Given the description of an element on the screen output the (x, y) to click on. 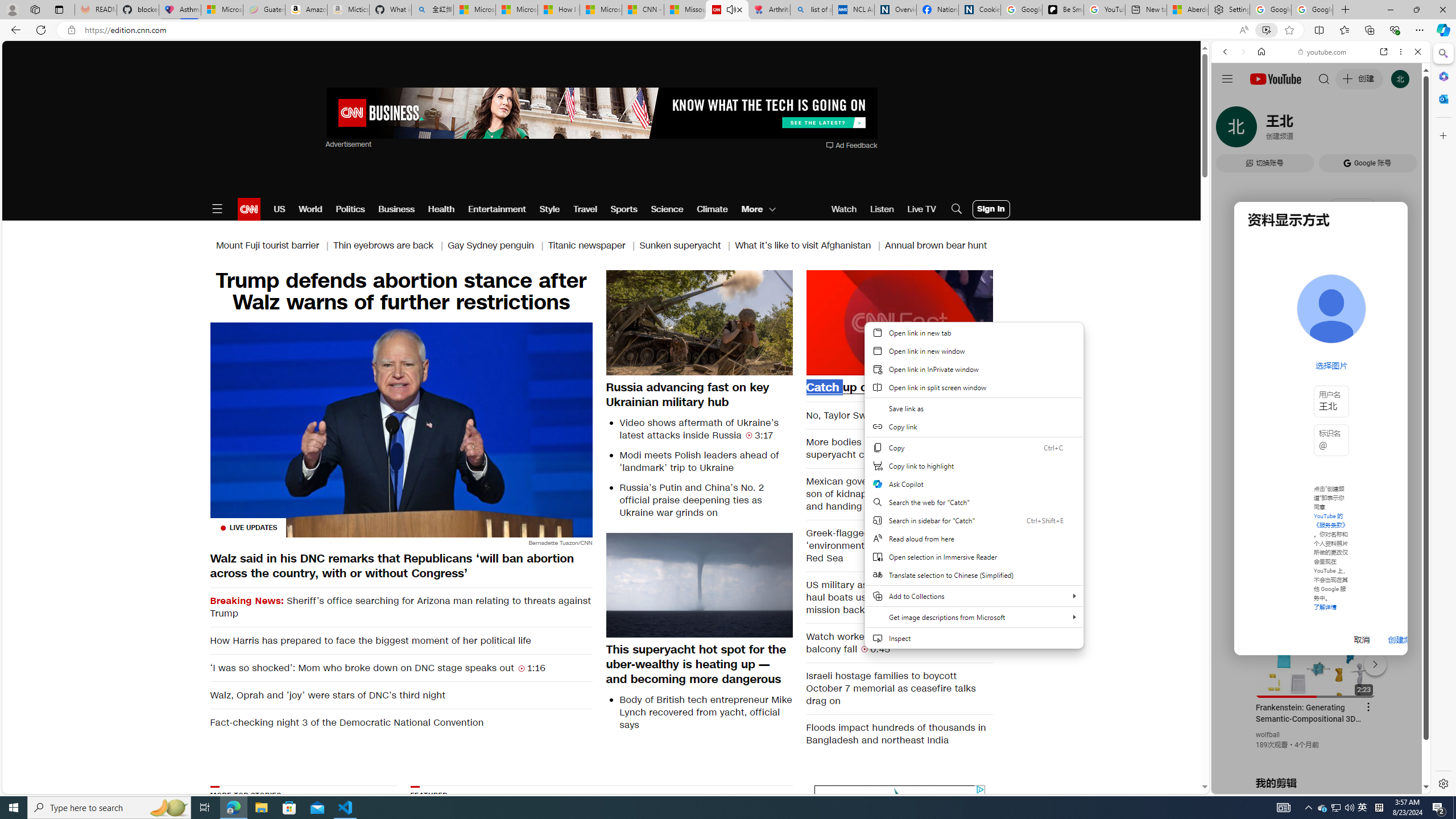
Open Menu Icon (216, 208)
Search the web (1326, 78)
Google (1266, 331)
Click to scroll right (1407, 456)
